Given the description of an element on the screen output the (x, y) to click on. 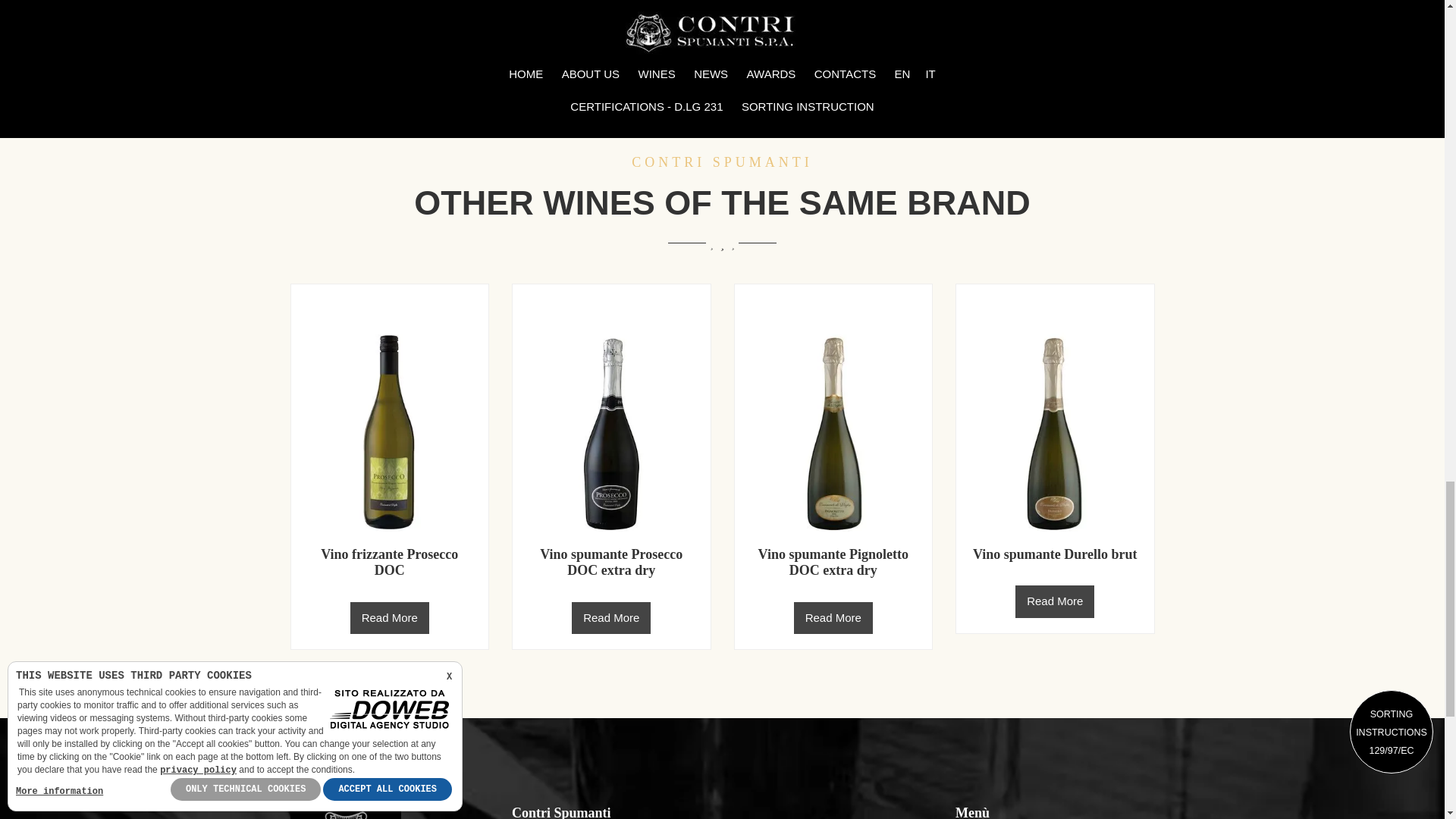
Vino spumante Pignoletto DOC extra dry (833, 562)
Vino spumante Durello brut (1054, 554)
Vino spumante Prosecco DOC extra dry (611, 562)
Vino frizzante Prosecco DOC (389, 562)
Read More (832, 617)
Read More (611, 617)
Read More (1054, 601)
Read More (389, 617)
